Given the description of an element on the screen output the (x, y) to click on. 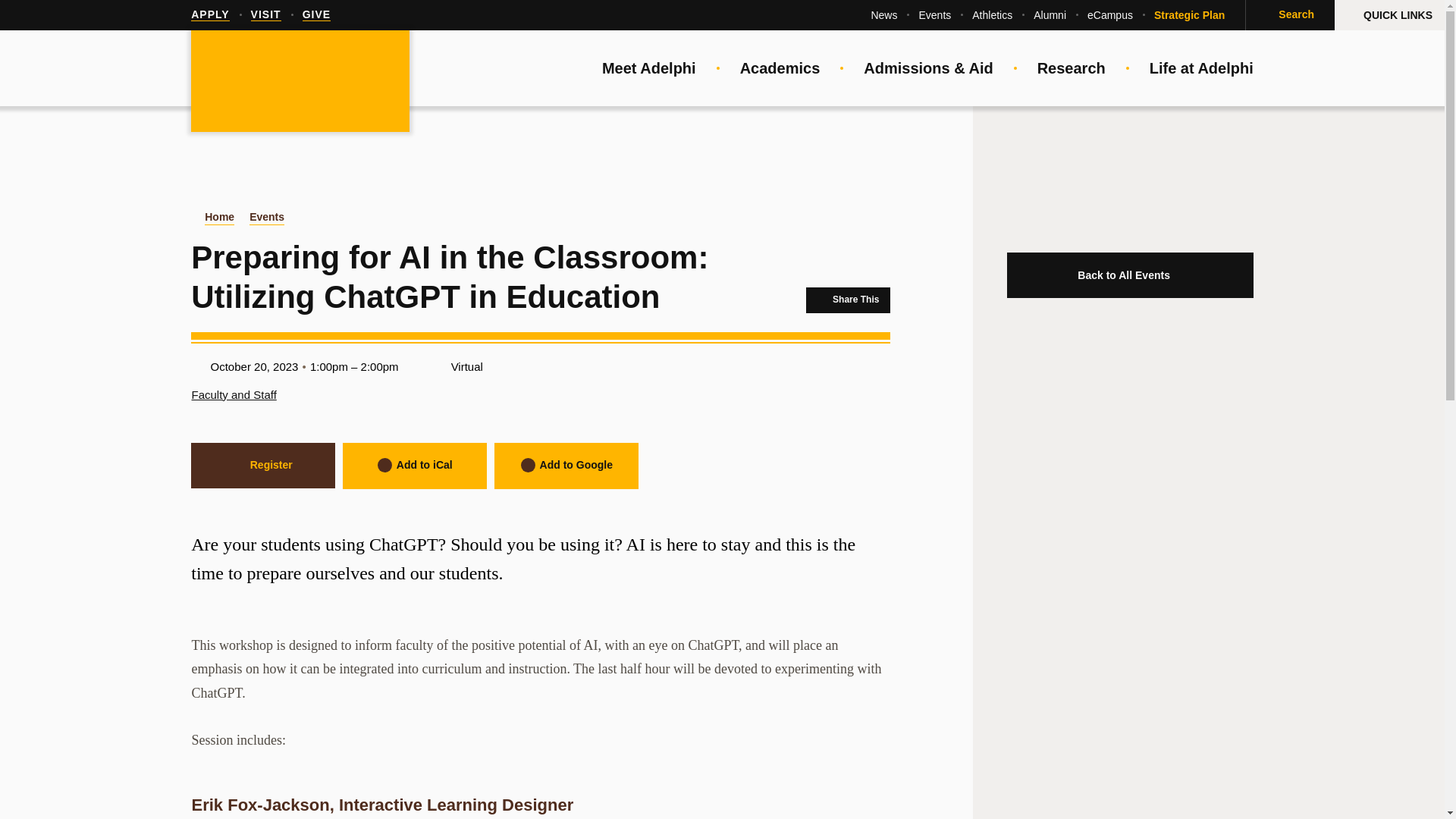
Athletics (991, 15)
GIVE (316, 15)
APPLY (209, 15)
Adelphi University (299, 82)
Strategic Plan (1189, 15)
VISIT (265, 15)
Alumni (1049, 15)
eCampus (1109, 15)
Events (934, 15)
Academics (780, 68)
